Given the description of an element on the screen output the (x, y) to click on. 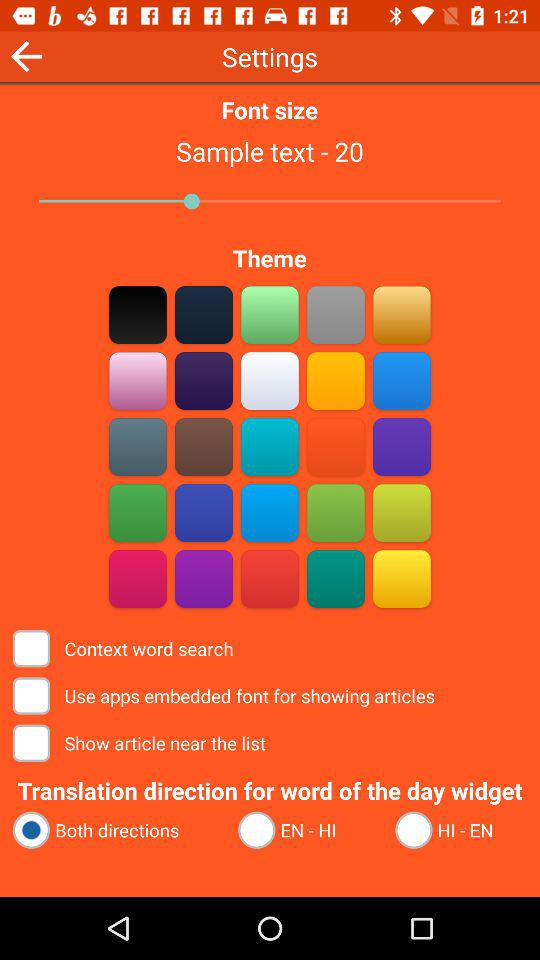
choose that color (335, 314)
